Given the description of an element on the screen output the (x, y) to click on. 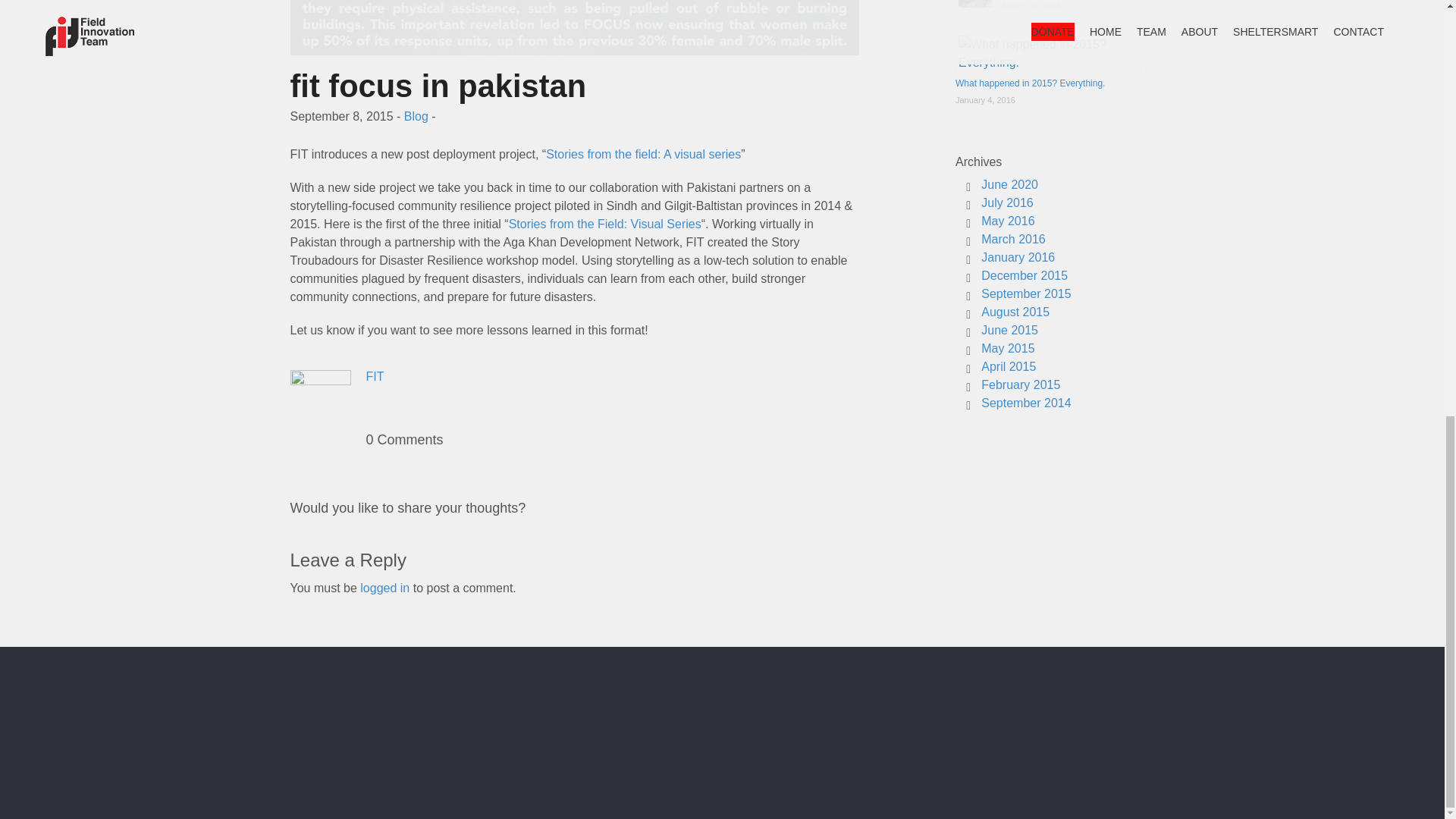
FIT (374, 376)
June 2020 (1009, 184)
August 2015 (1015, 311)
logged in (384, 587)
May 2016 (1007, 220)
June 2015 (1009, 329)
March 2016 (1013, 238)
January 2016 (1017, 256)
Posts by FIT (374, 376)
Permalink to What happened in 2015? Everything. (1030, 82)
